Given the description of an element on the screen output the (x, y) to click on. 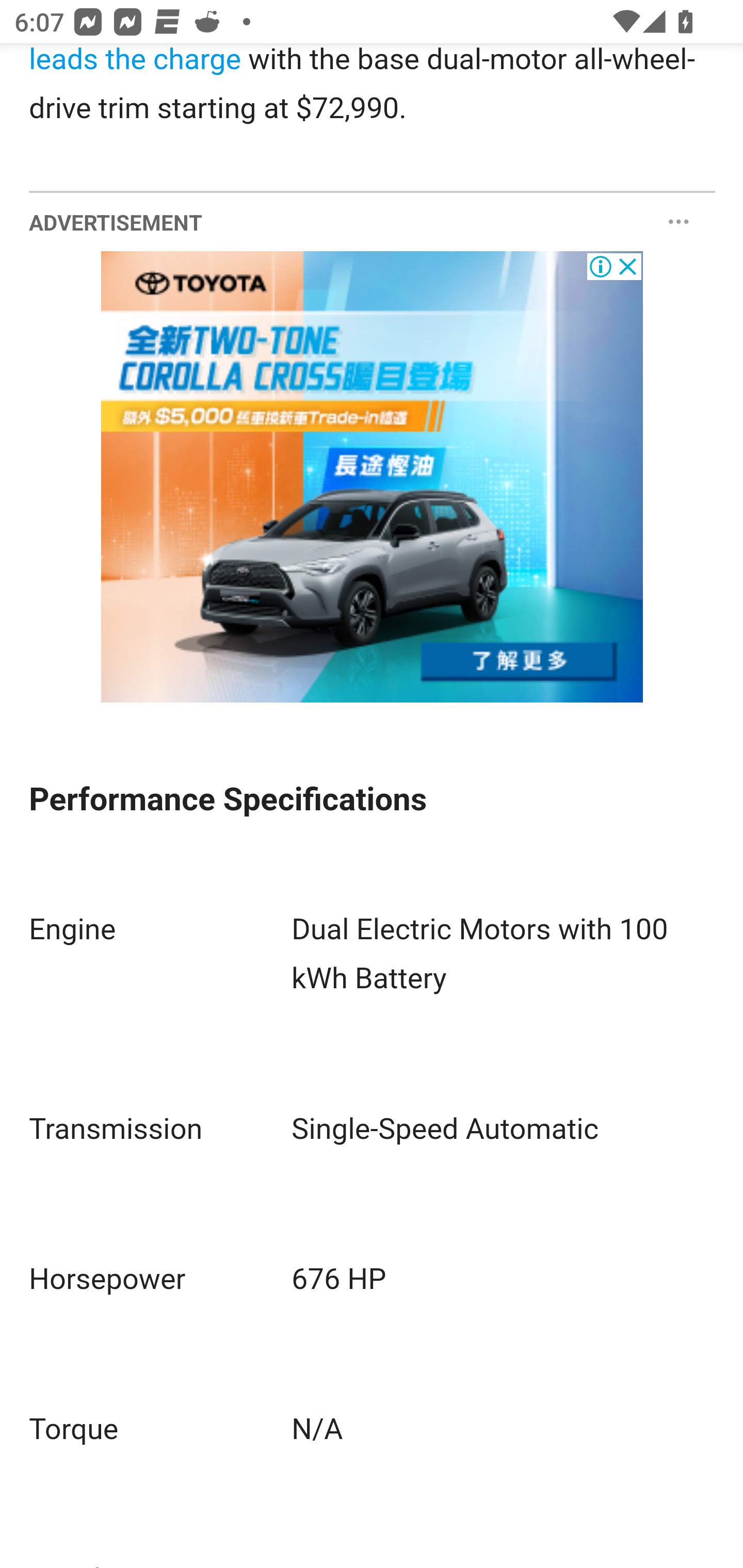
For the sedans, the 2024 Model S leads the charge (343, 63)
